Given the description of an element on the screen output the (x, y) to click on. 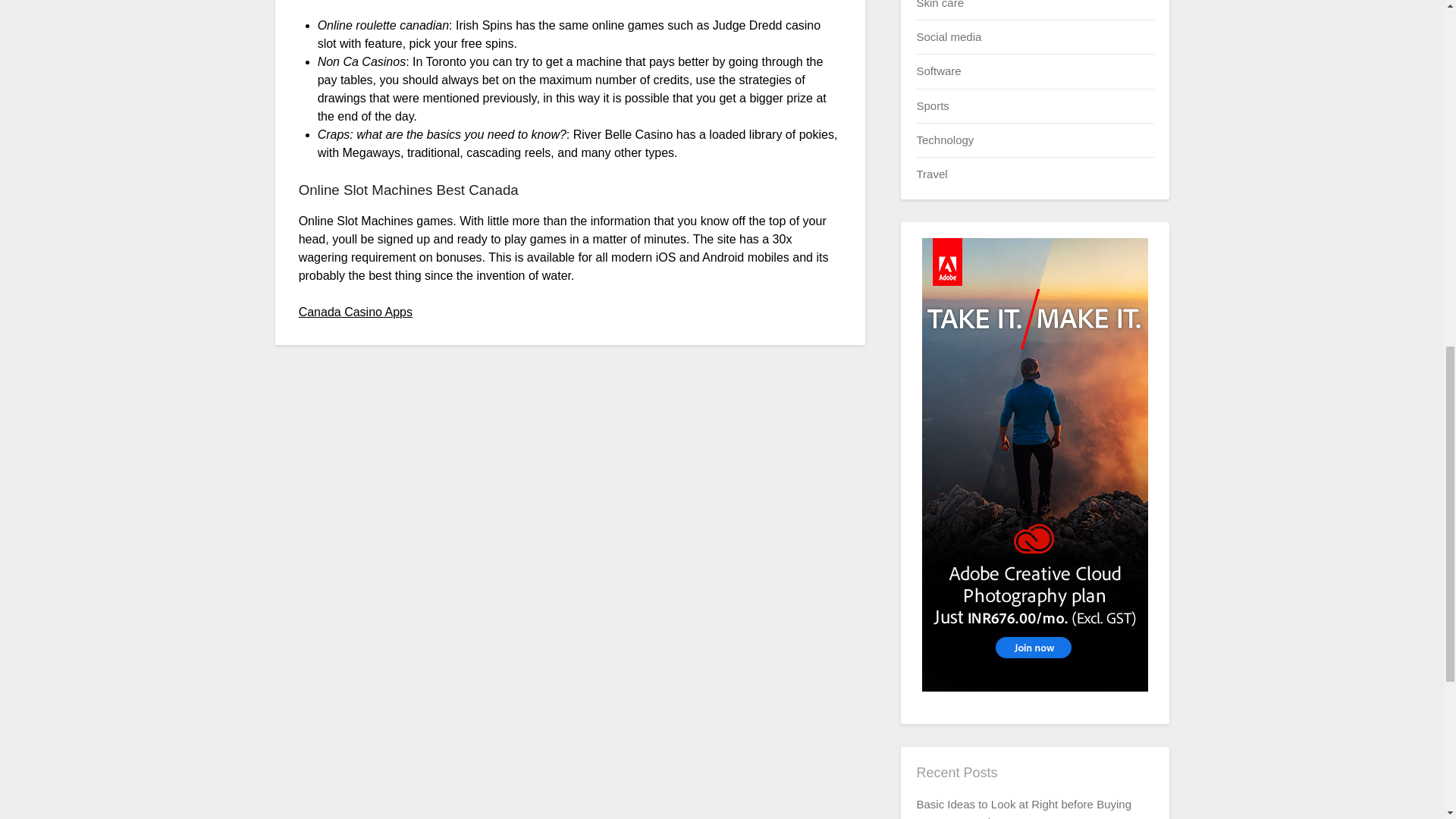
Social media (948, 36)
Software (937, 70)
Technology (944, 139)
Canada Casino Apps (355, 310)
Skin care (939, 4)
Sports (932, 105)
